Given the description of an element on the screen output the (x, y) to click on. 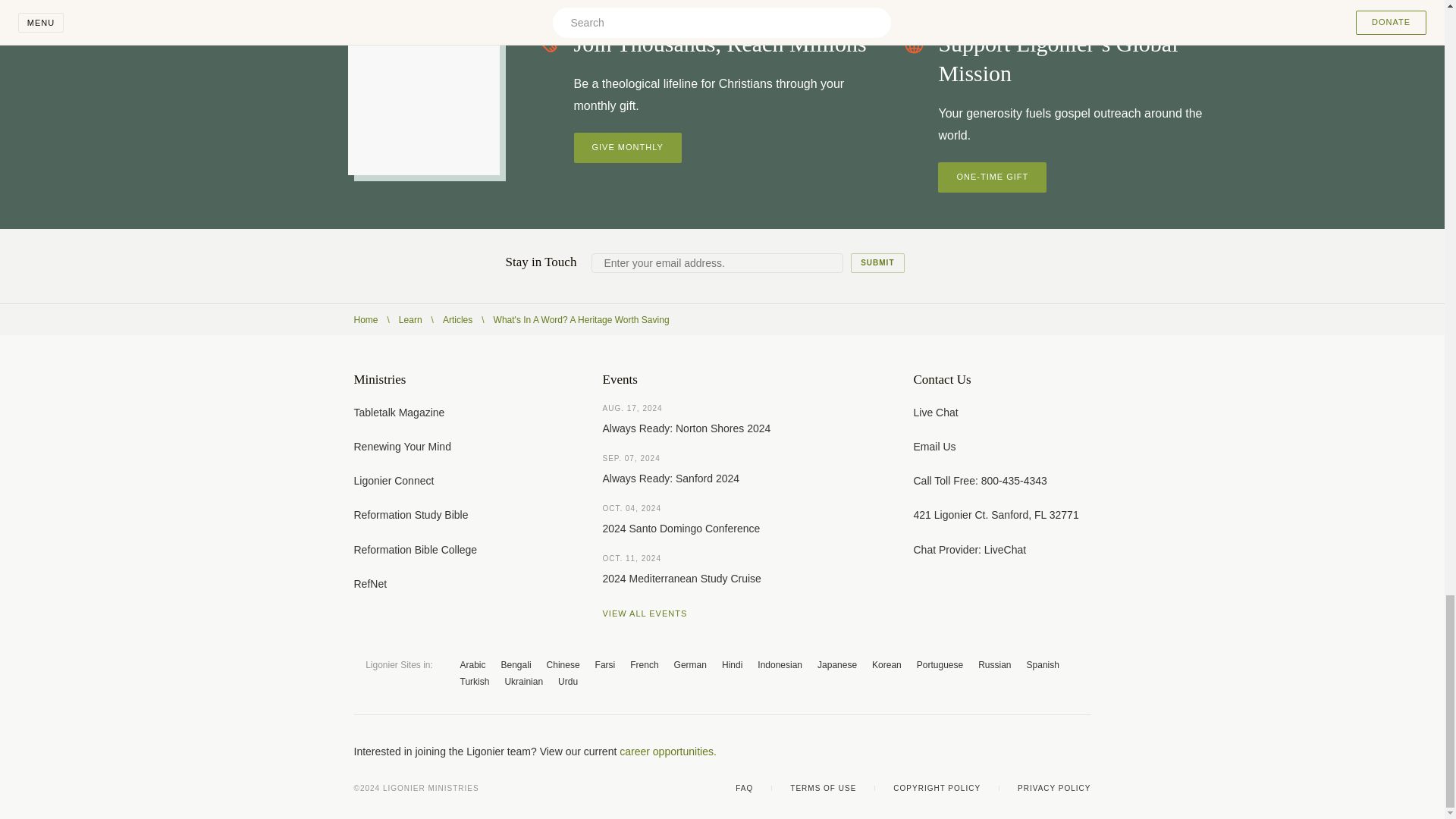
Linkedin (1083, 751)
Facebook (962, 751)
X (993, 751)
Instagram (1053, 751)
YouTube (1023, 751)
